Given the description of an element on the screen output the (x, y) to click on. 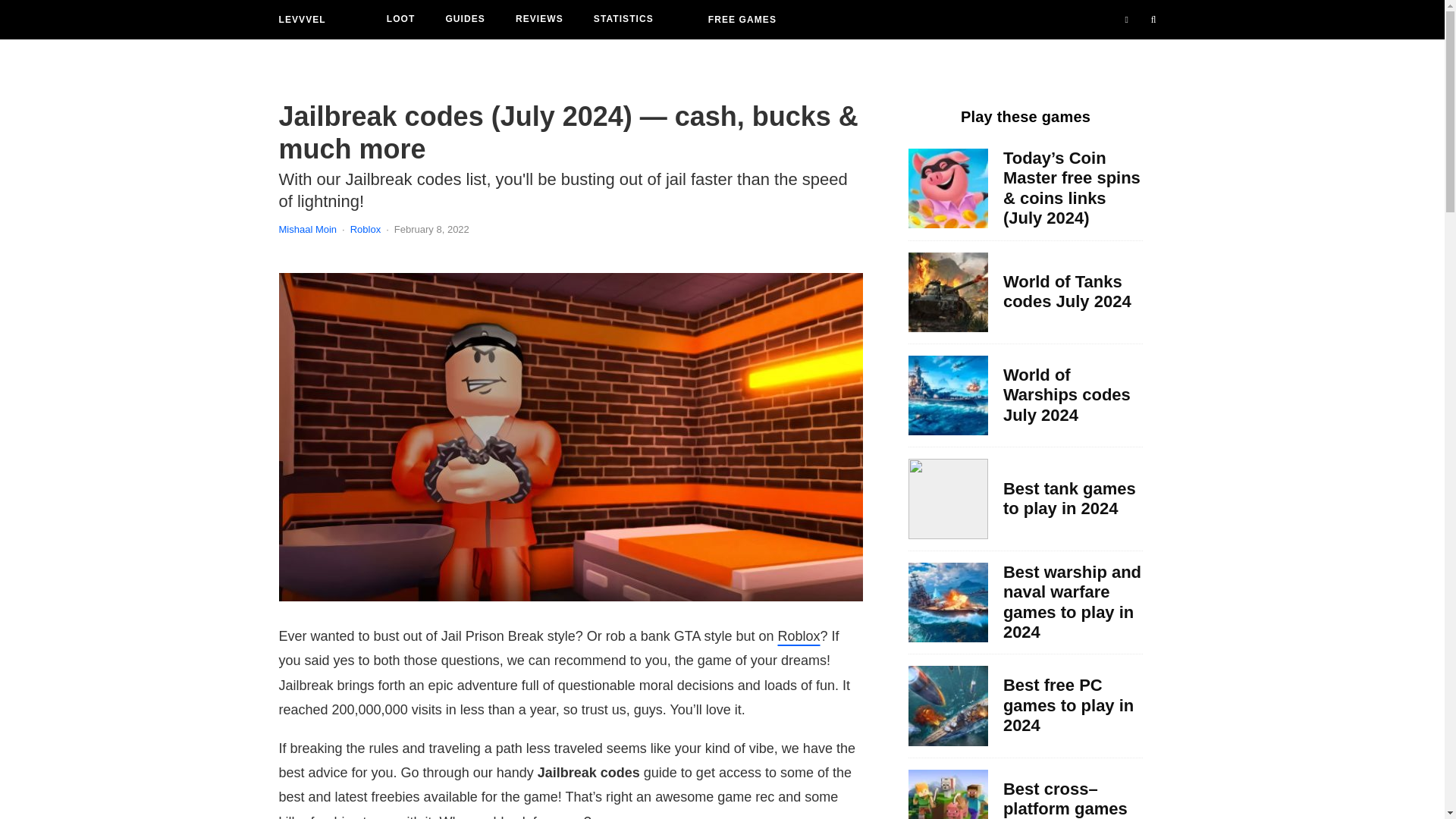
GUIDES (464, 19)
REVIEWS (539, 19)
wargaming world of tanks codes 2023 (948, 292)
world of tanks 019 (948, 498)
Roblox (799, 635)
world of warships codes 2023 (948, 394)
Minecraft Statistics and Facts (948, 794)
Mishaal Moin (308, 229)
Roblox (365, 229)
world-of-warships-007 (948, 602)
LOOT (400, 19)
FREE GAMES (742, 19)
STATISTICS (623, 19)
LEVVVEL (302, 19)
how to download world of warships (948, 705)
